Given the description of an element on the screen output the (x, y) to click on. 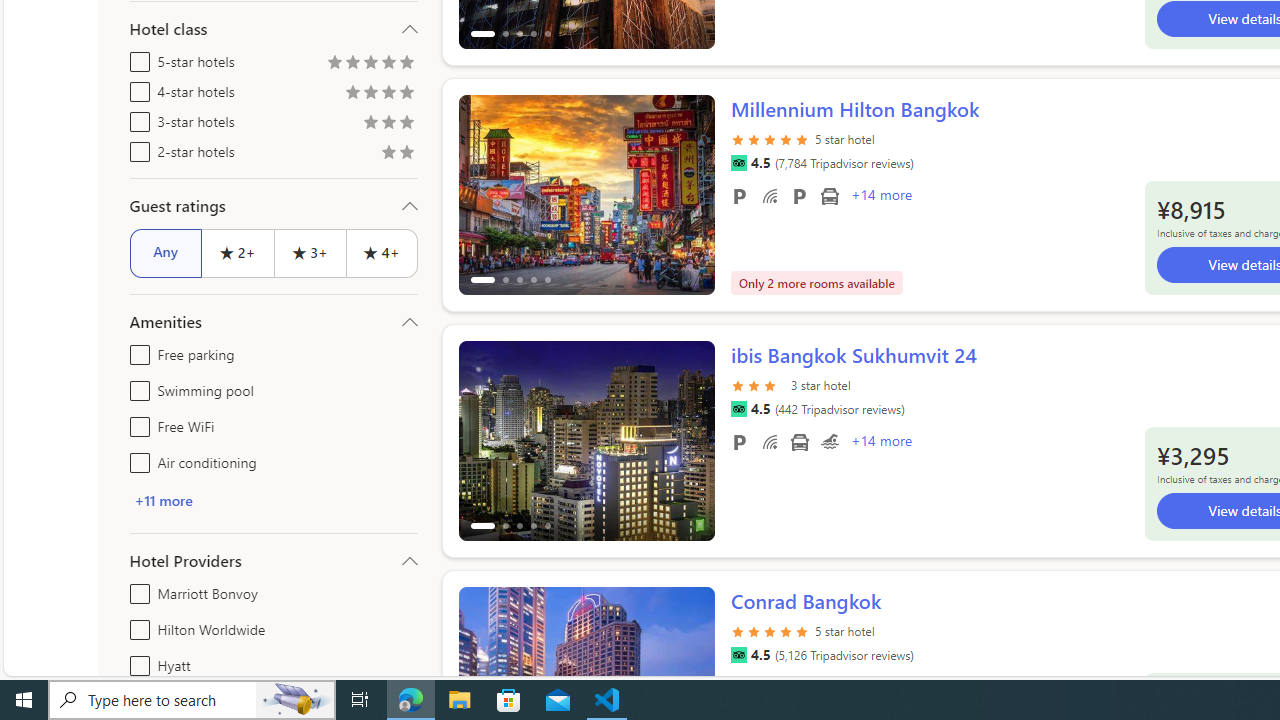
Slide 1 (586, 440)
Free WiFi (769, 441)
3-star hotels (136, 118)
Free parking (136, 350)
+11 more (273, 500)
5-star hotels (136, 57)
Marriott Bonvoy (136, 589)
Tripadvisor (738, 655)
Free parking (738, 441)
Swimming pool (136, 386)
3+ (308, 252)
Swimming pool (829, 441)
Hotel class (273, 29)
Free WiFi (136, 422)
4+ (381, 252)
